Given the description of an element on the screen output the (x, y) to click on. 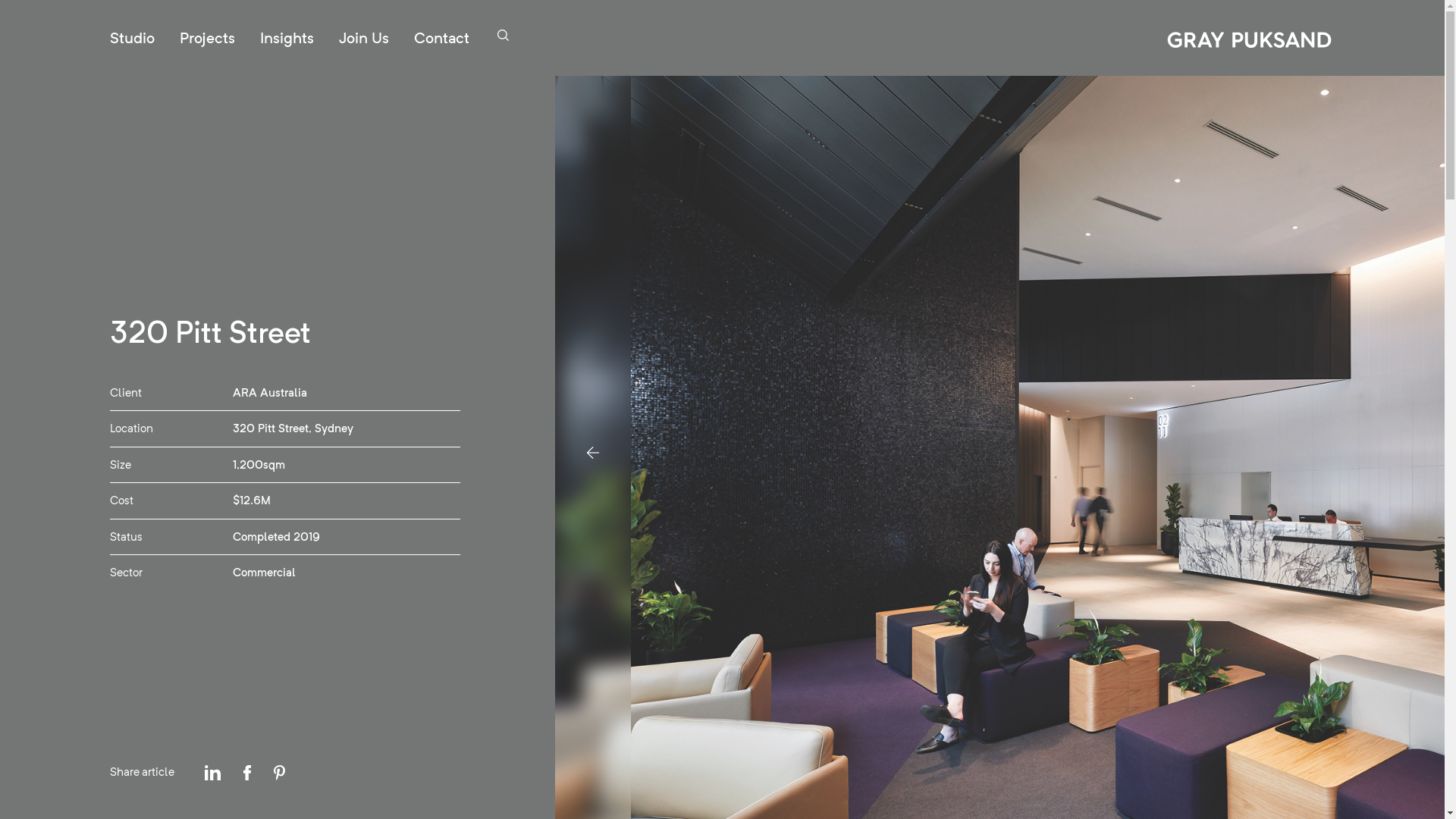
Projects Element type: text (207, 37)
Contact Element type: text (441, 37)
Join Us Element type: text (363, 37)
Studio Element type: text (131, 37)
Insights Element type: text (286, 37)
Commercial Element type: text (263, 572)
